Given the description of an element on the screen output the (x, y) to click on. 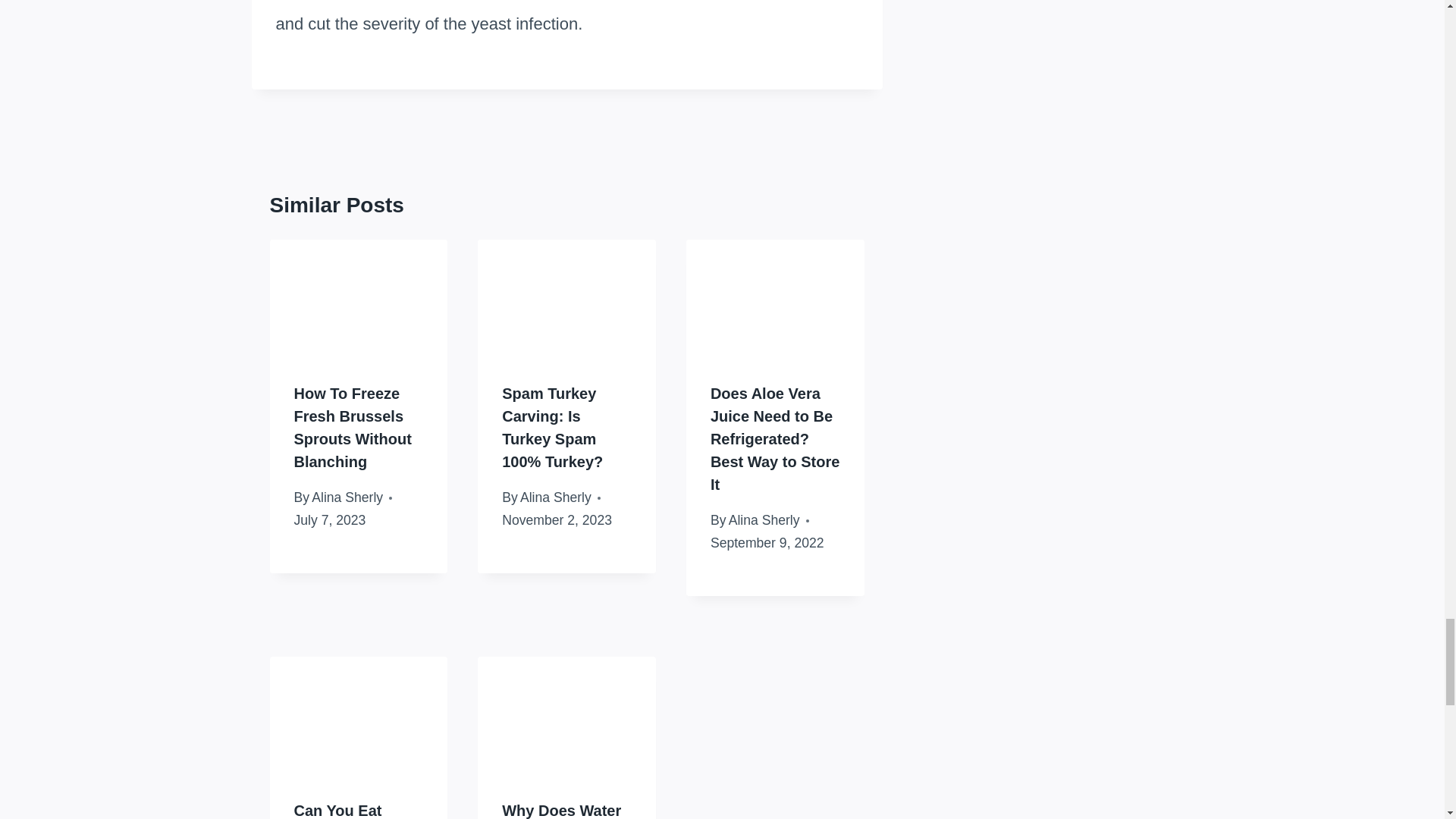
Can You Eat Oyster Mushrooms with Mold on Them? (354, 810)
How To Freeze Fresh Brussels Sprouts Without Blanching (353, 427)
